Given the description of an element on the screen output the (x, y) to click on. 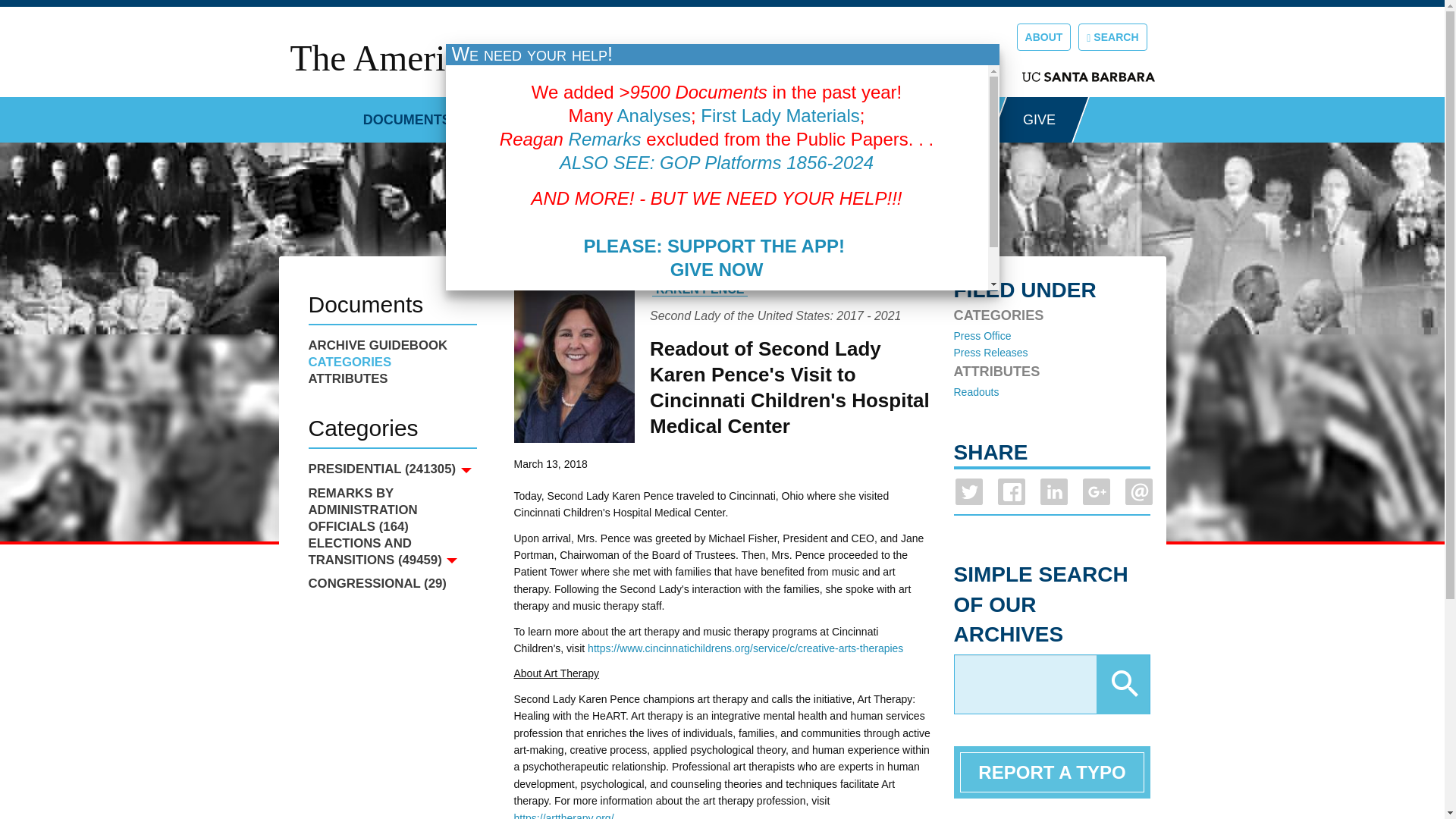
PRESIDENTS (800, 113)
ARCHIVE GUIDEBOOK (391, 345)
ATTRIBUTES (391, 379)
MEDIA ARCHIVE (663, 113)
STATISTICS (530, 113)
on (635, 307)
ABOUT (1043, 36)
ANALYSES (920, 113)
 SEARCH (1112, 36)
